Given the description of an element on the screen output the (x, y) to click on. 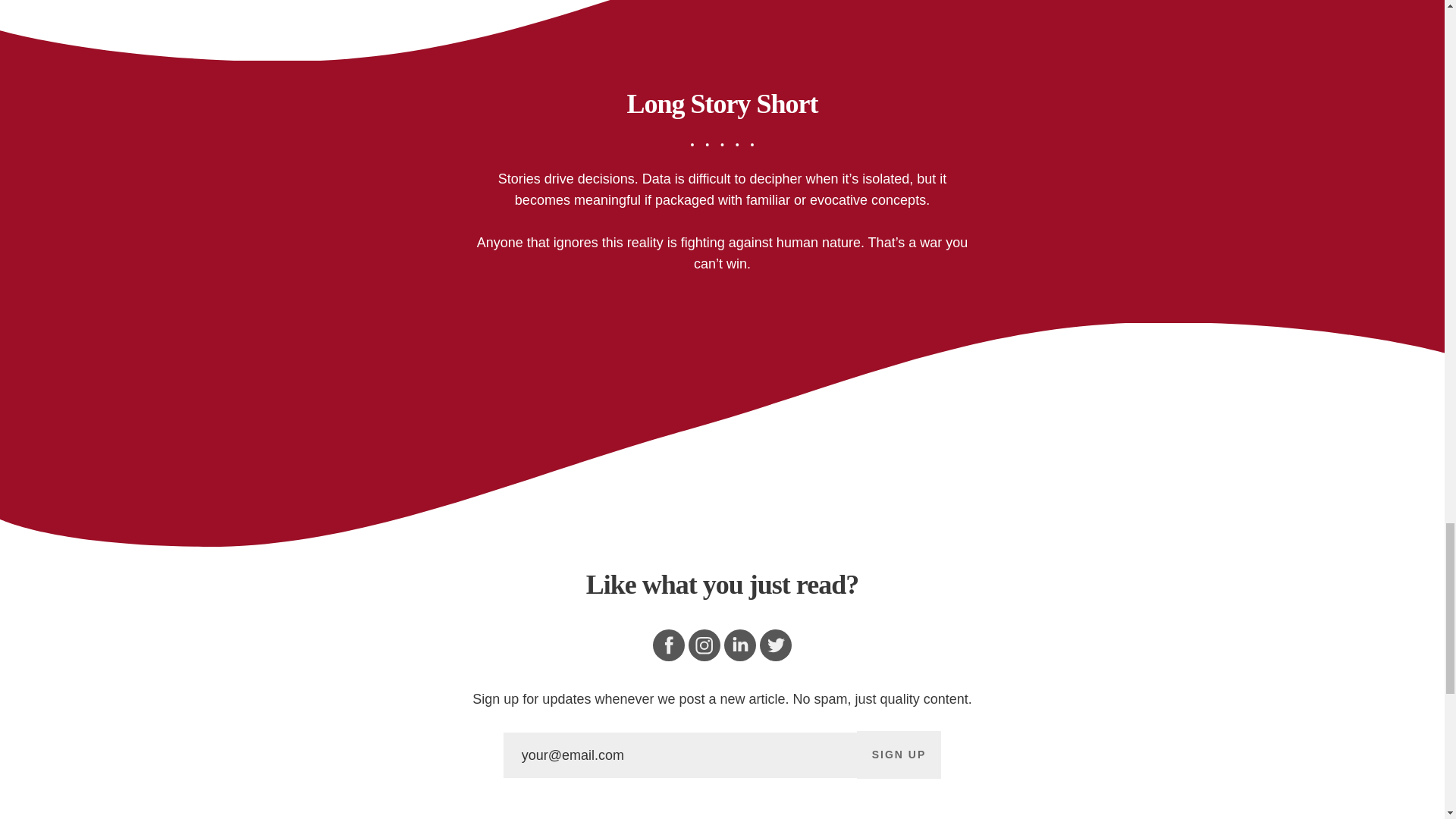
SIGN UP (899, 754)
SIGN UP (899, 754)
